Given the description of an element on the screen output the (x, y) to click on. 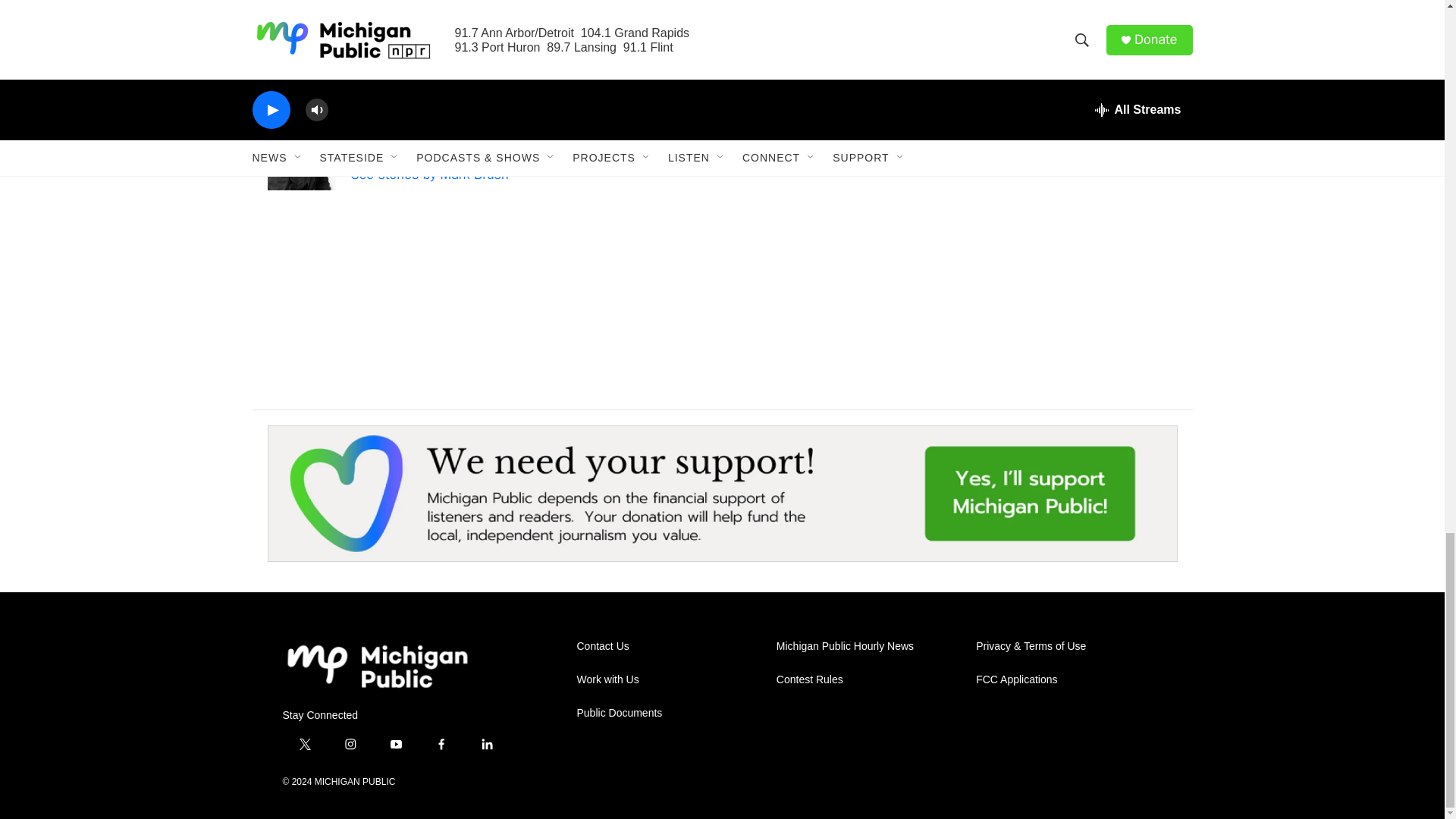
3rd party ad content (1062, 64)
3rd party ad content (1062, 253)
